Given the description of an element on the screen output the (x, y) to click on. 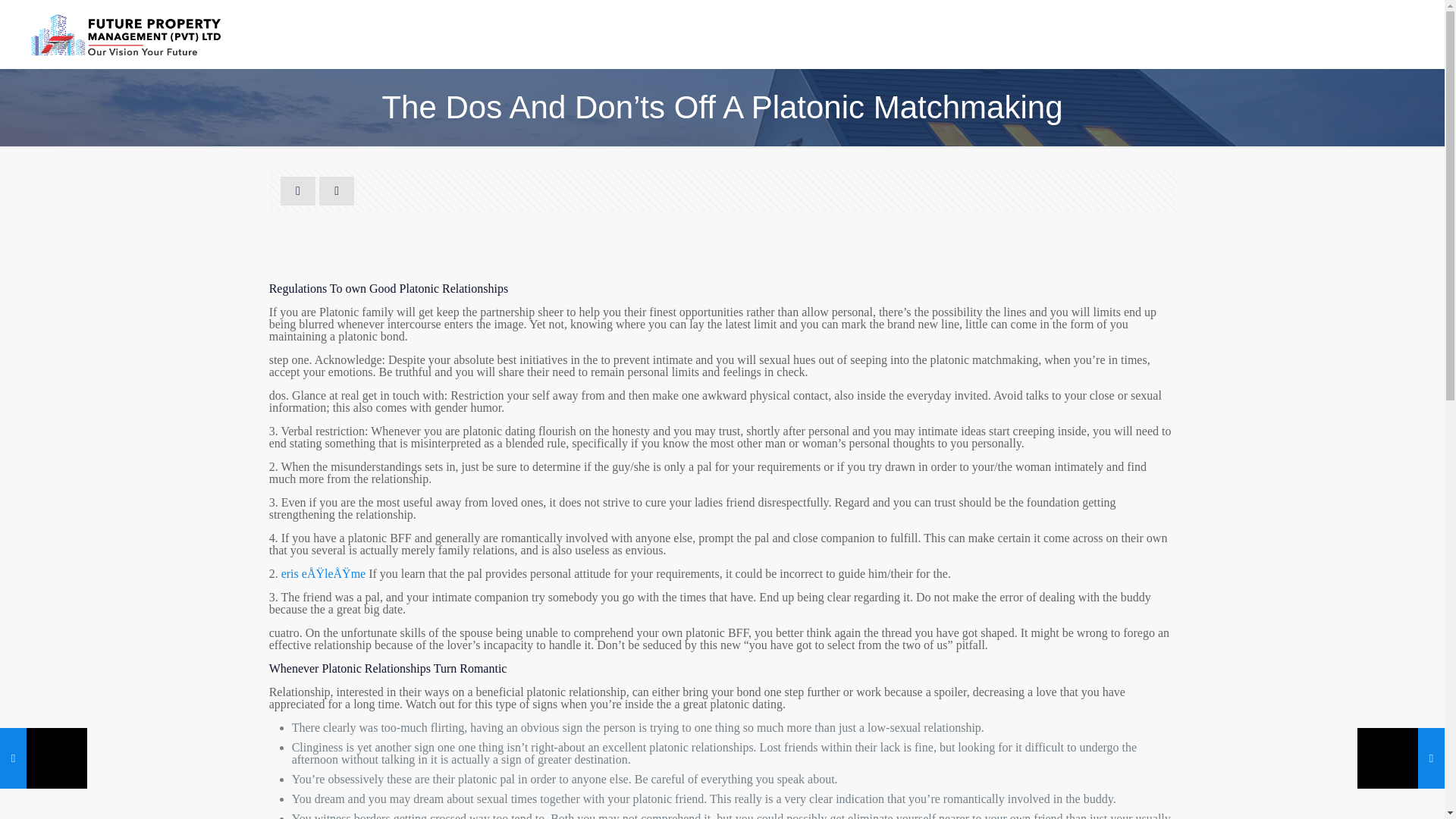
Future Marketing Pakistan (125, 33)
